Given the description of an element on the screen output the (x, y) to click on. 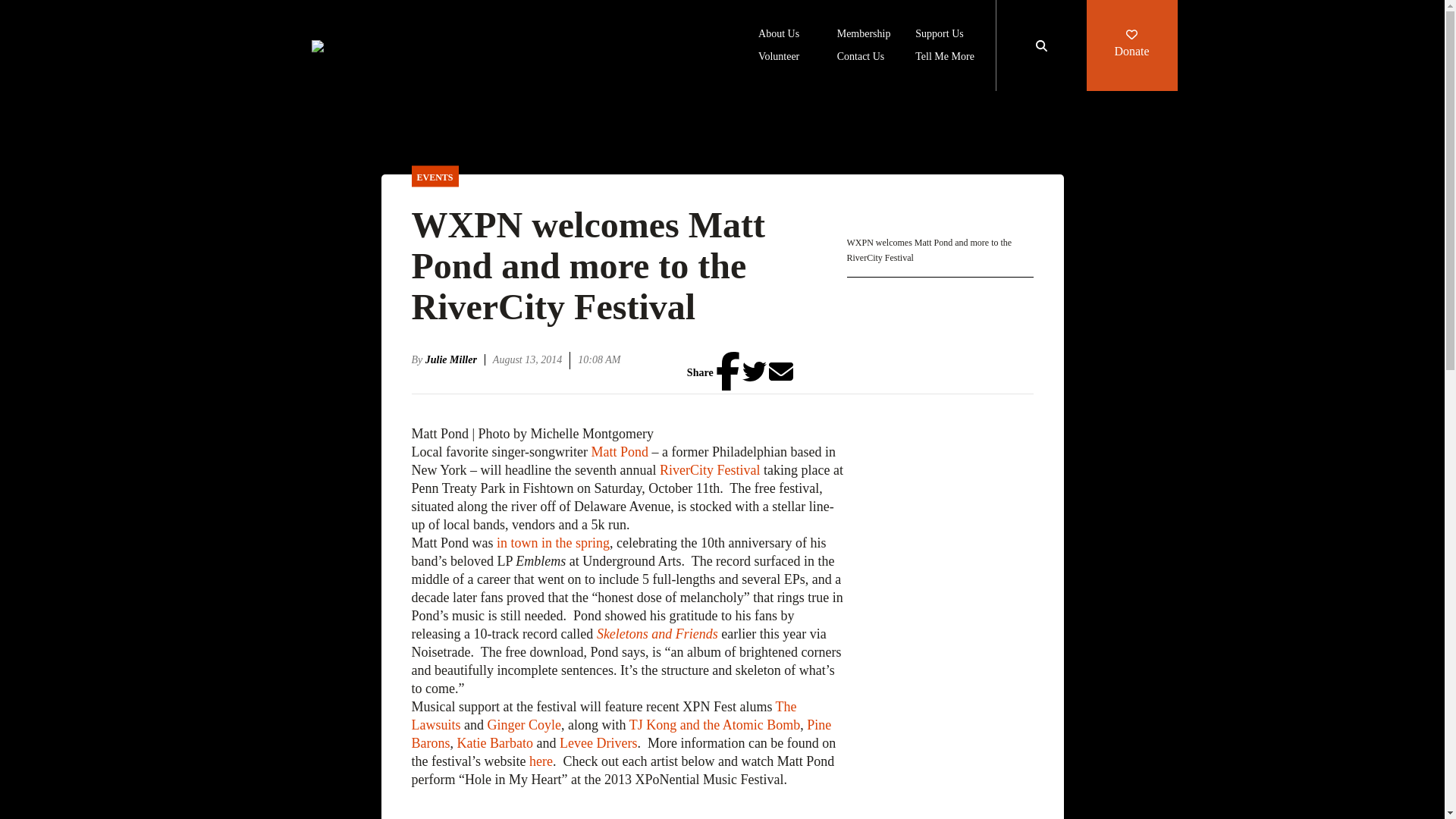
Contact Us (861, 57)
Julie Miller (454, 359)
Matt Pond (620, 451)
RiverCity Festival (709, 469)
Tell Me More (944, 57)
About Us (778, 35)
Skeletons and Friends (656, 633)
Membership (864, 35)
TJ Kong and the Atomic Bomb (713, 724)
Ginger Coyle (523, 724)
Donate (1131, 45)
Support Us (938, 35)
in town in the spring (553, 542)
Katie Barbato (494, 743)
Pine Barons (620, 734)
